Given the description of an element on the screen output the (x, y) to click on. 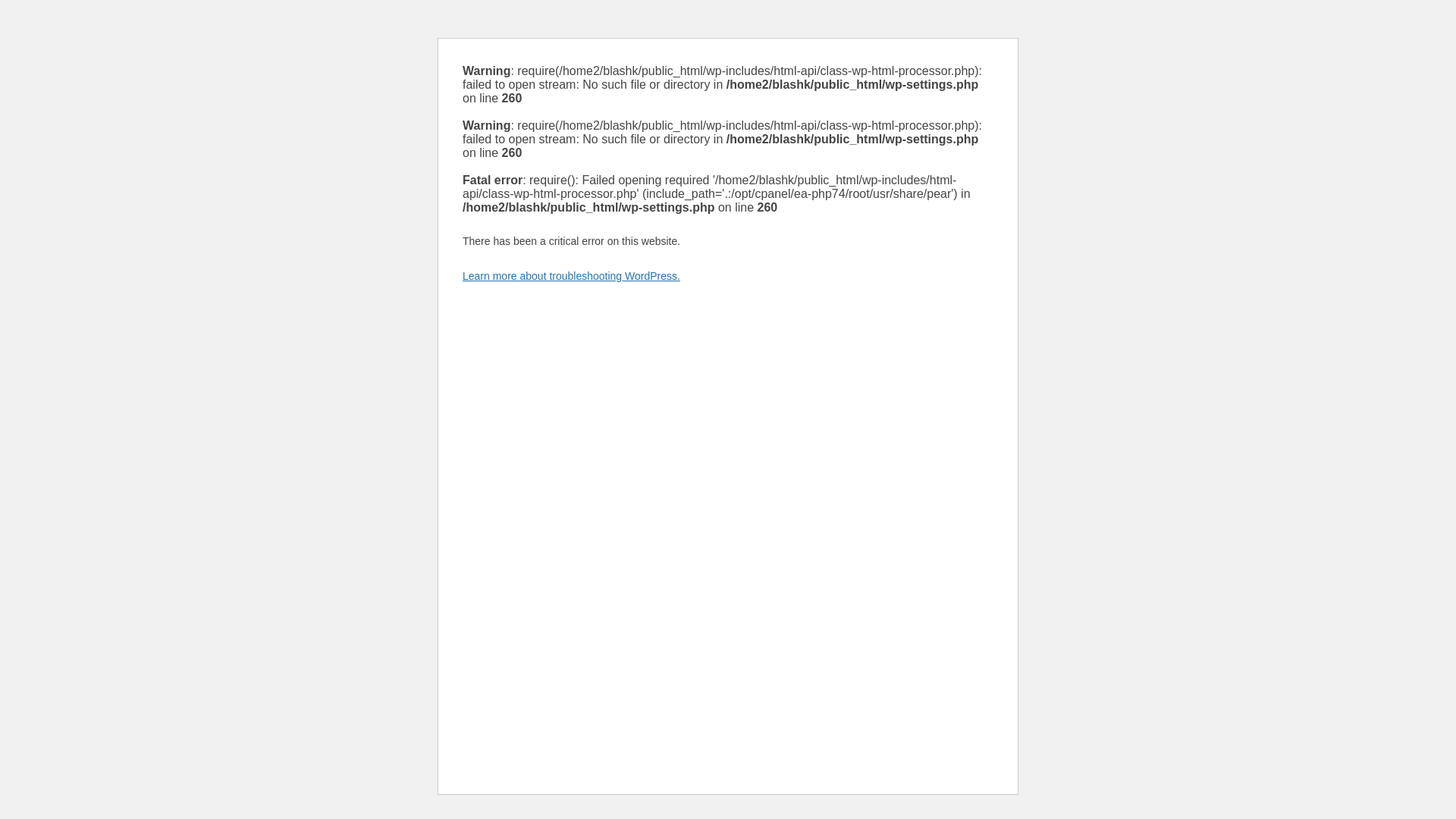
Learn more about troubleshooting WordPress. (571, 275)
